Given the description of an element on the screen output the (x, y) to click on. 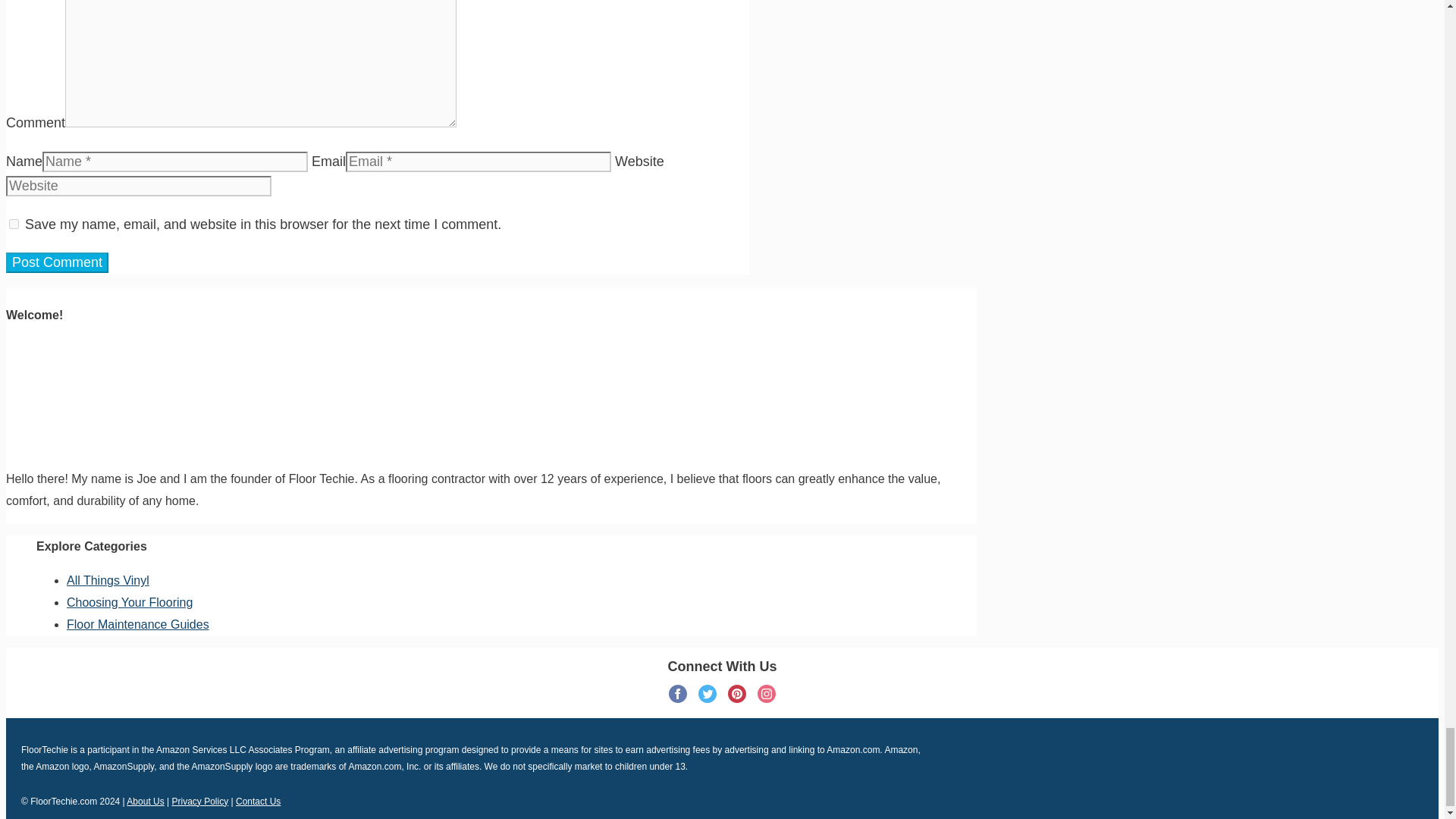
Contact Us (258, 800)
Privacy Policy (199, 800)
Post Comment (56, 262)
yes (13, 224)
Choosing Your Flooring (129, 602)
All Things Vinyl (107, 580)
Post Comment (56, 262)
About Us (144, 800)
Floor Maintenance Guides (137, 624)
